Given the description of an element on the screen output the (x, y) to click on. 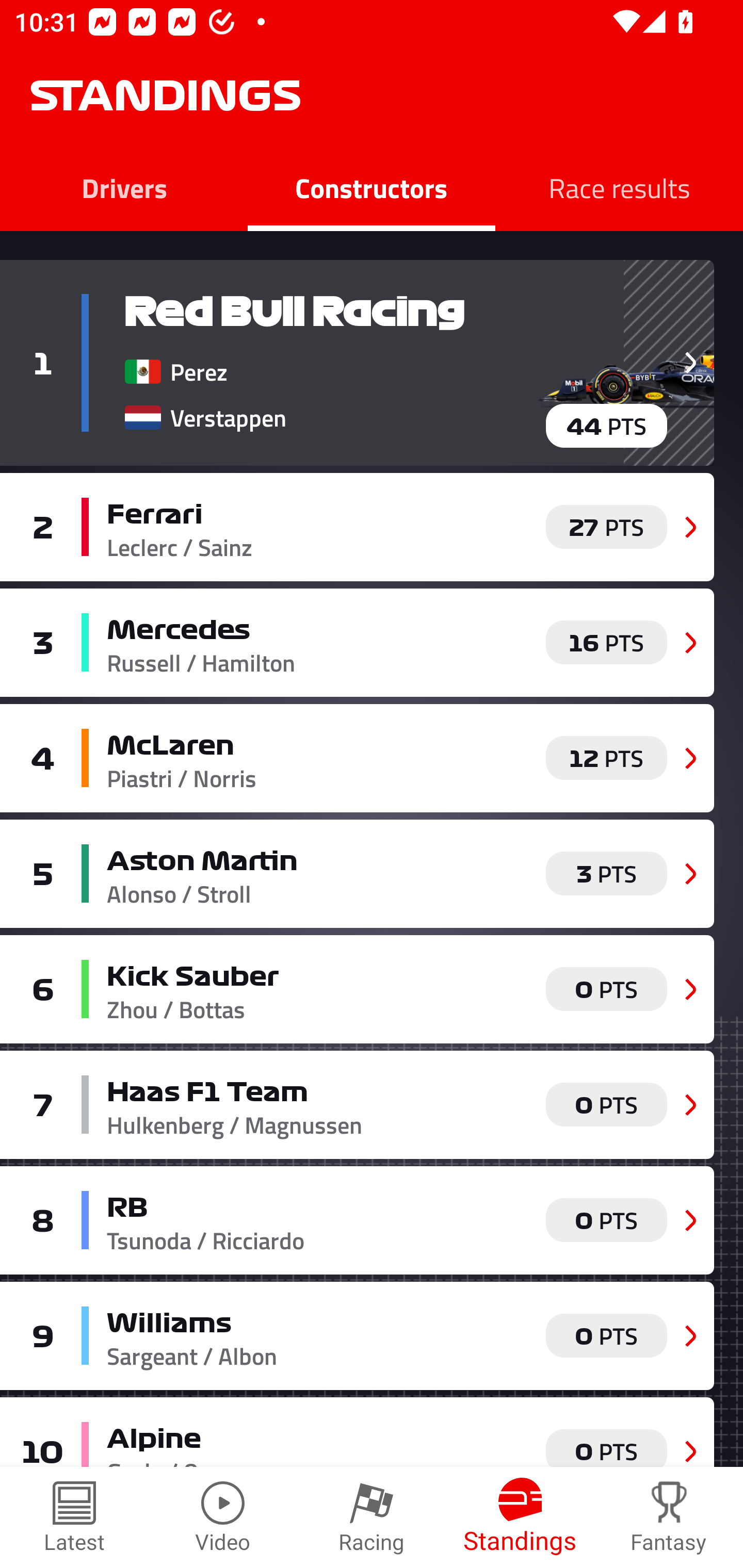
Drivers (123, 187)
Race results (619, 187)
2 Ferrari Leclerc / Sainz 27 PTS (357, 527)
3 Mercedes Russell / Hamilton 16 PTS (357, 642)
4 McLaren Piastri / Norris 12 PTS (357, 758)
5 Aston Martin Alonso / Stroll 3 PTS (357, 874)
6 Kick Sauber Zhou / Bottas 0 PTS (357, 988)
7 Haas F1 Team Hulkenberg / Magnussen 0 PTS (357, 1104)
8 RB Tsunoda / Ricciardo 0 PTS (357, 1220)
9 Williams Sargeant / Albon 0 PTS (357, 1335)
10 Alpine Gasly / Ocon 0 PTS (357, 1432)
Latest (74, 1517)
Video (222, 1517)
Racing (371, 1517)
Fantasy (668, 1517)
